Given the description of an element on the screen output the (x, y) to click on. 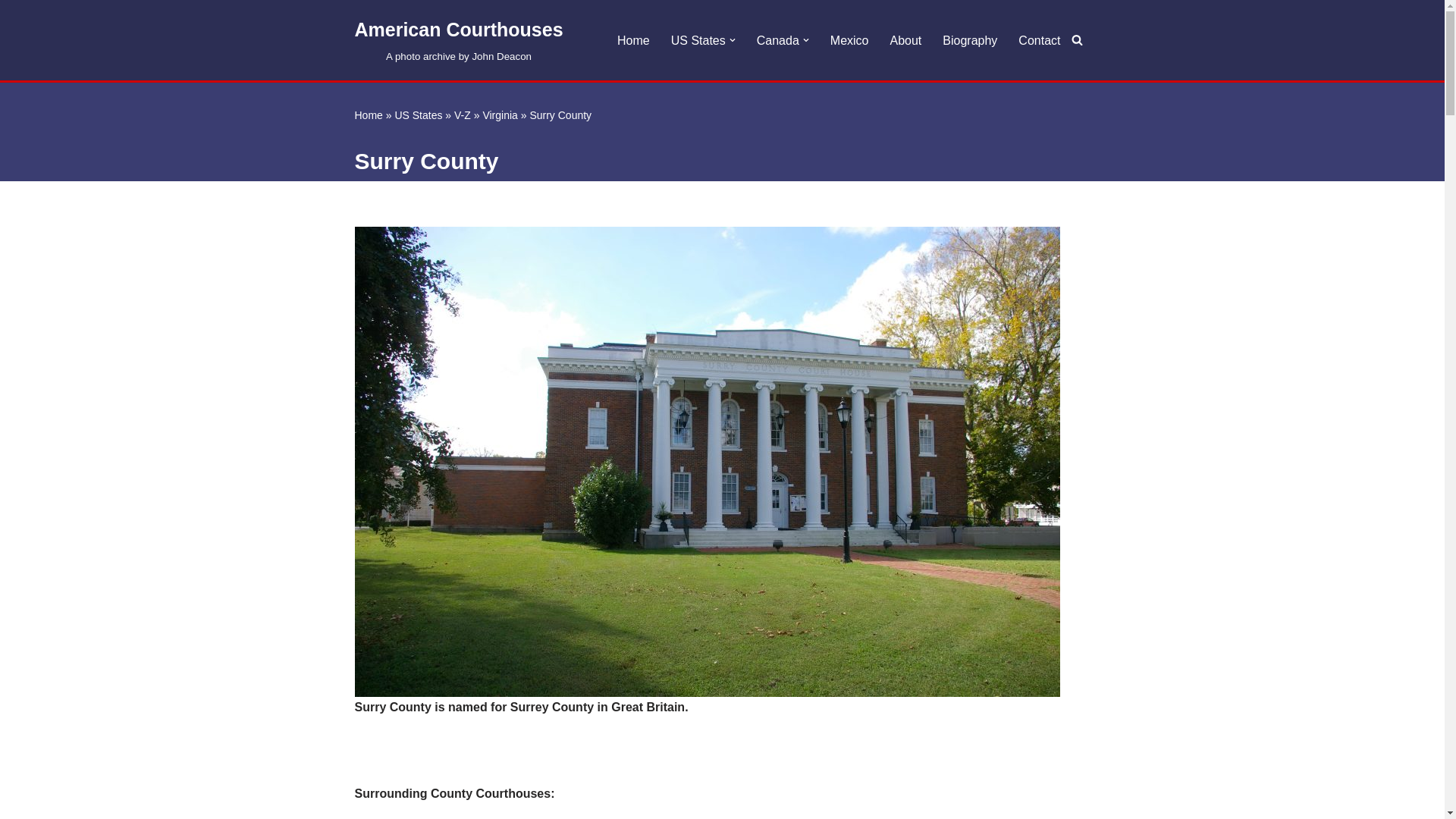
Home (633, 40)
Skip to content (459, 39)
US States (11, 31)
